Given the description of an element on the screen output the (x, y) to click on. 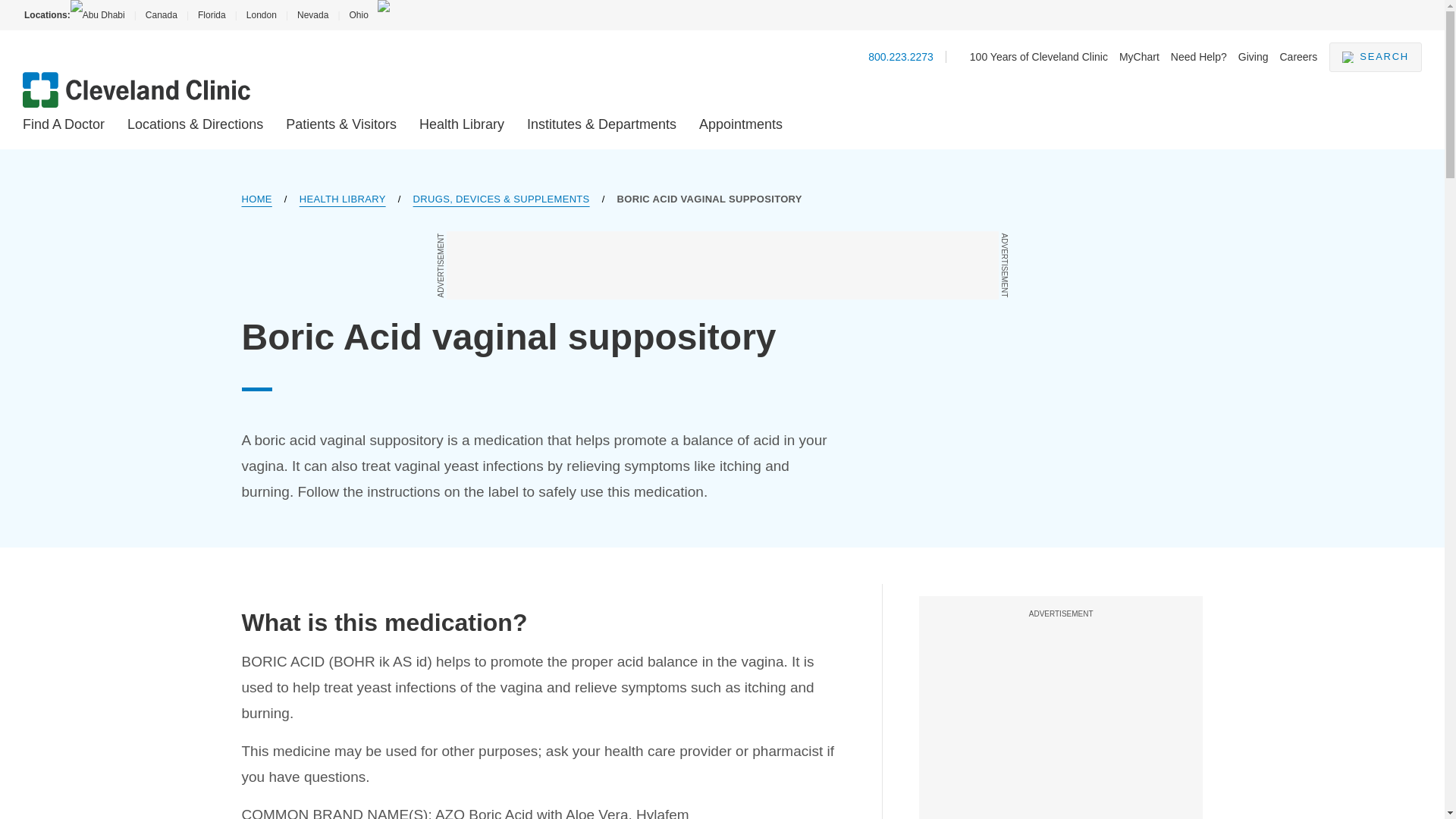
London (261, 15)
Find A Doctor (63, 124)
100 Years of Cleveland Clinic (1038, 56)
Health Library (461, 124)
Appointments (740, 124)
SEARCH (1375, 57)
HEALTH LIBRARY (342, 198)
800.223.2273 (900, 56)
MyChart (1138, 56)
Nevada (312, 15)
